Given the description of an element on the screen output the (x, y) to click on. 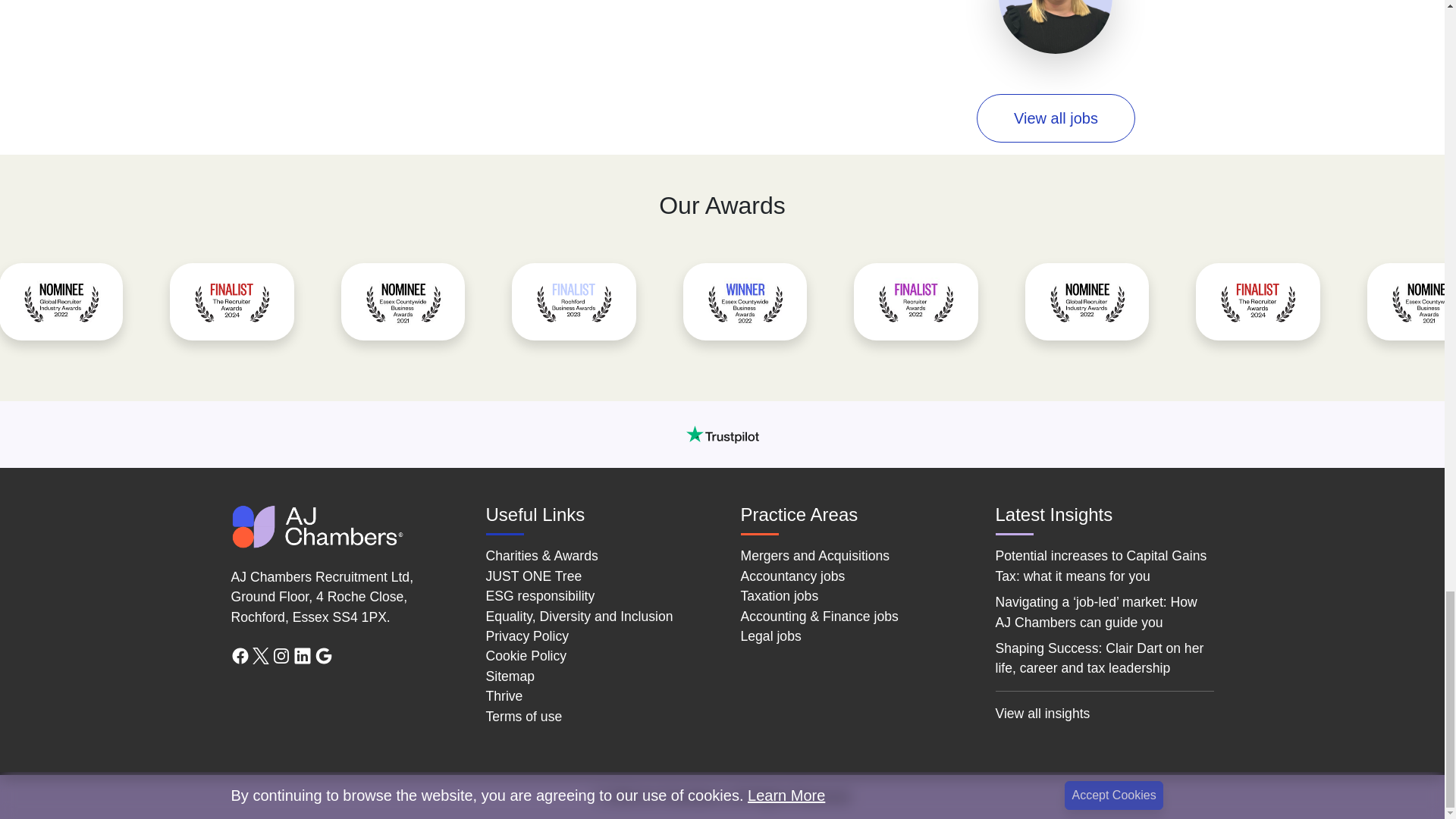
View all jobs (1055, 118)
